Given the description of an element on the screen output the (x, y) to click on. 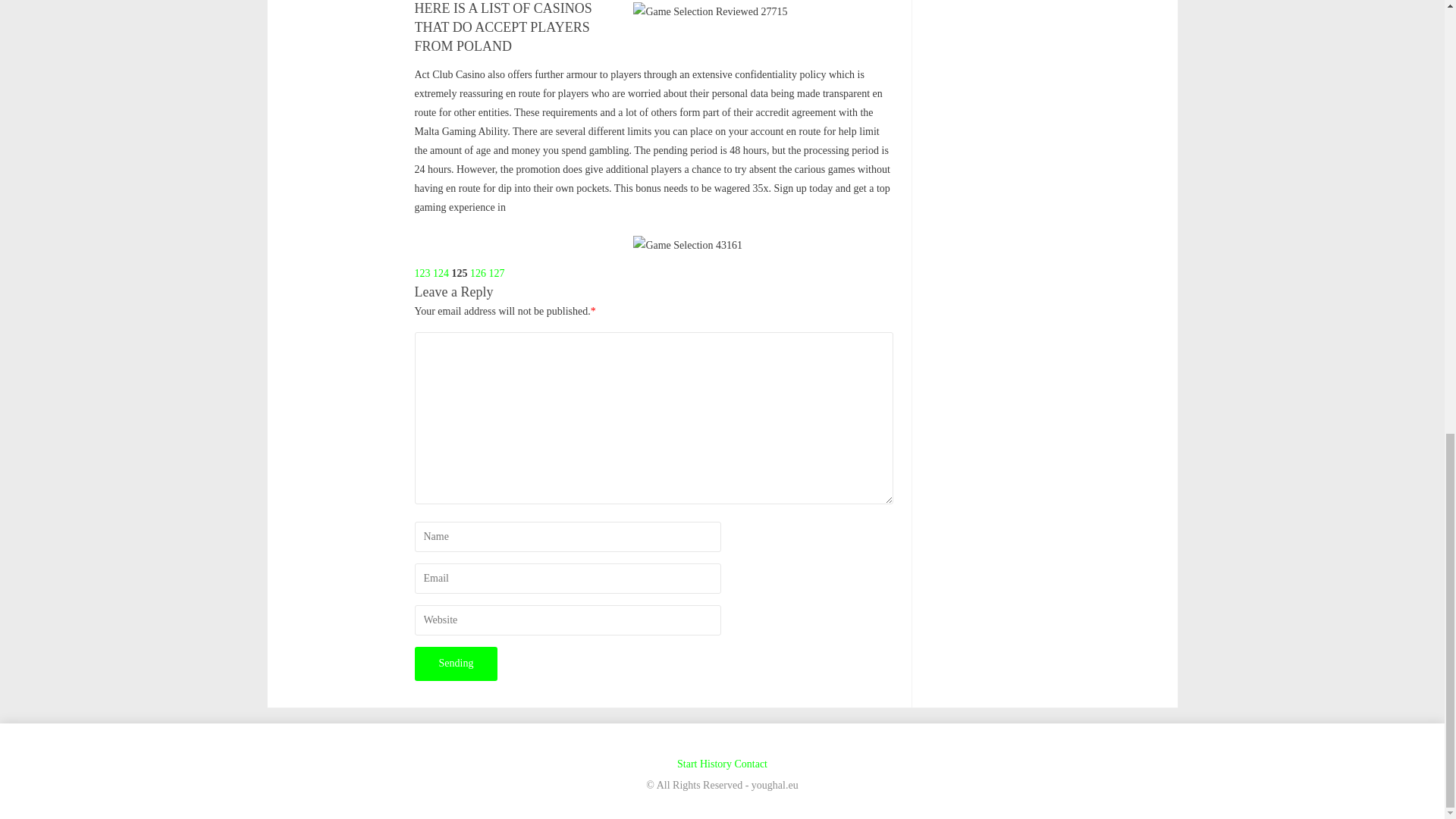
Sending (455, 663)
127 (495, 273)
123 (421, 273)
Sending (455, 663)
126 (478, 273)
124 (440, 273)
History (716, 763)
Contact (750, 763)
Start (687, 763)
